Given the description of an element on the screen output the (x, y) to click on. 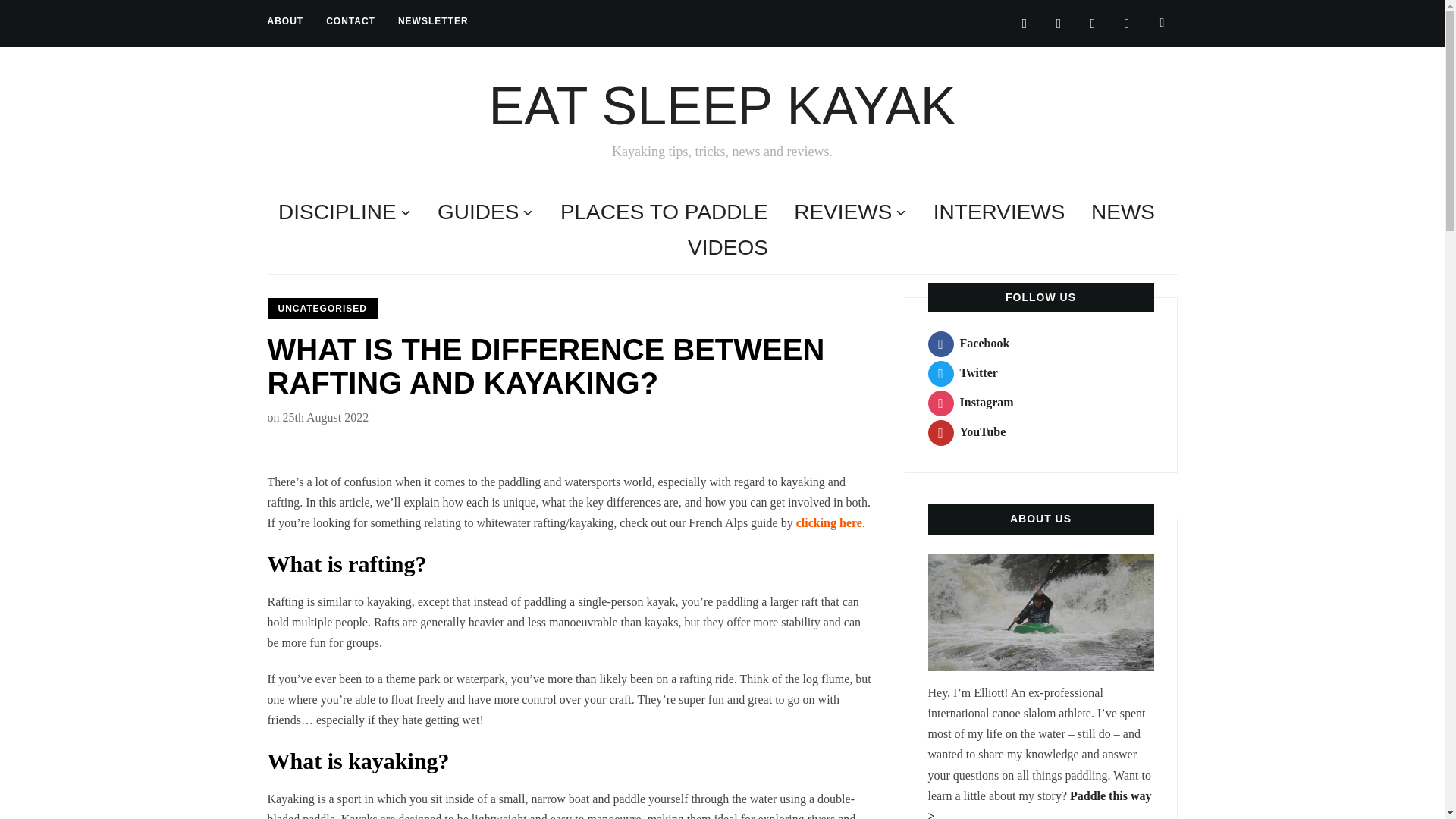
Instagram (1092, 22)
YOUTUBE (1127, 22)
Twitter (1058, 22)
NEWSLETTER (432, 21)
Search (1161, 22)
Facebook (969, 342)
FACEBOOK (1023, 22)
CONTACT (350, 21)
Twitter (962, 372)
EAT SLEEP KAYAK (721, 105)
INSTAGRAM (1092, 22)
Kayaking tips, tricks, news and reviews. (721, 105)
Facebook (1023, 22)
Default Label (1127, 22)
TWITTER (1058, 22)
